Given the description of an element on the screen output the (x, y) to click on. 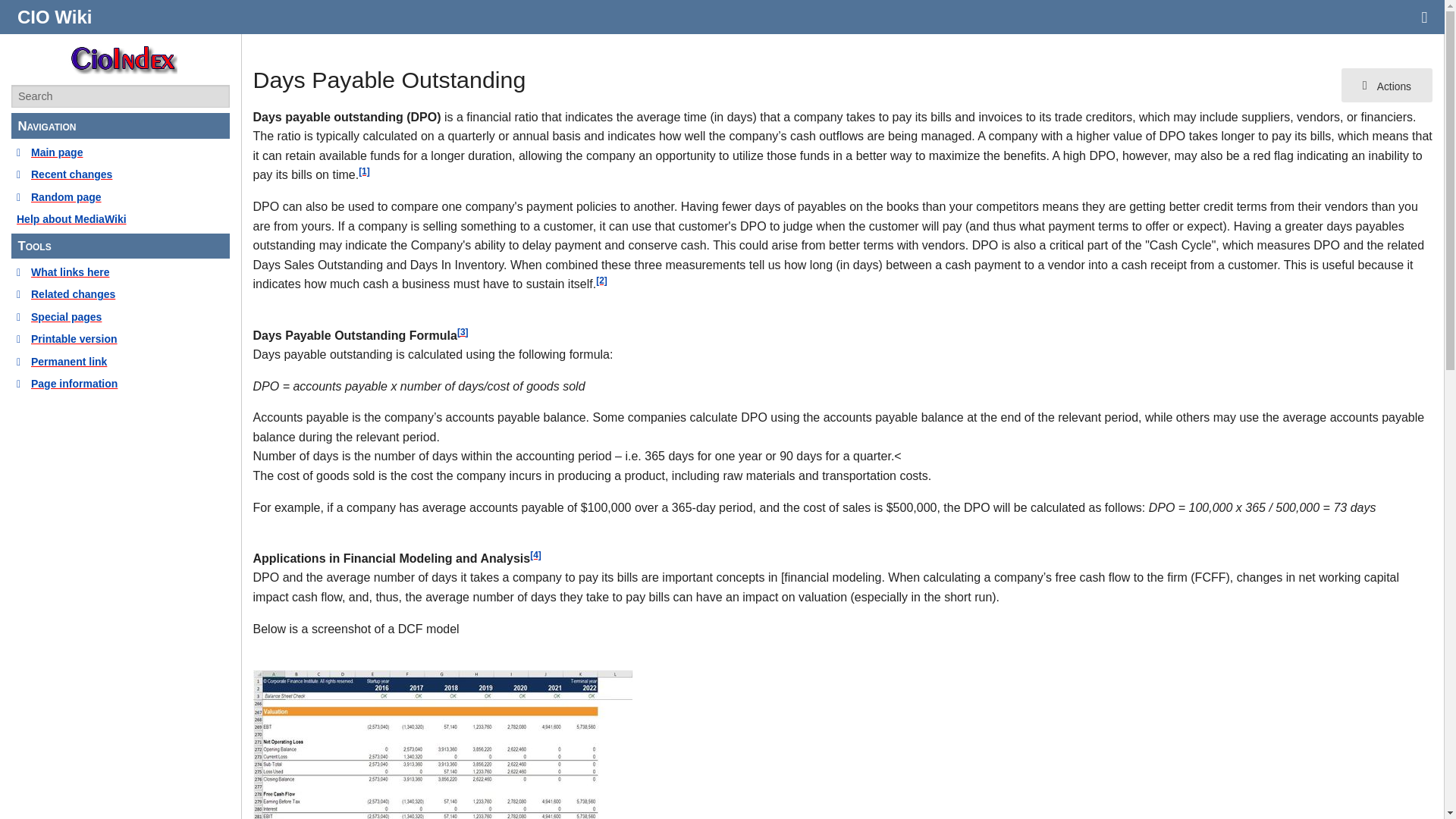
What links here (120, 271)
Permanent link (120, 361)
Page information (120, 383)
Related changes (120, 293)
CIO Wiki (54, 16)
Help about MediaWiki (120, 218)
Random page (120, 197)
Special pages (120, 316)
Recent changes (120, 174)
Main page (120, 152)
